Given the description of an element on the screen output the (x, y) to click on. 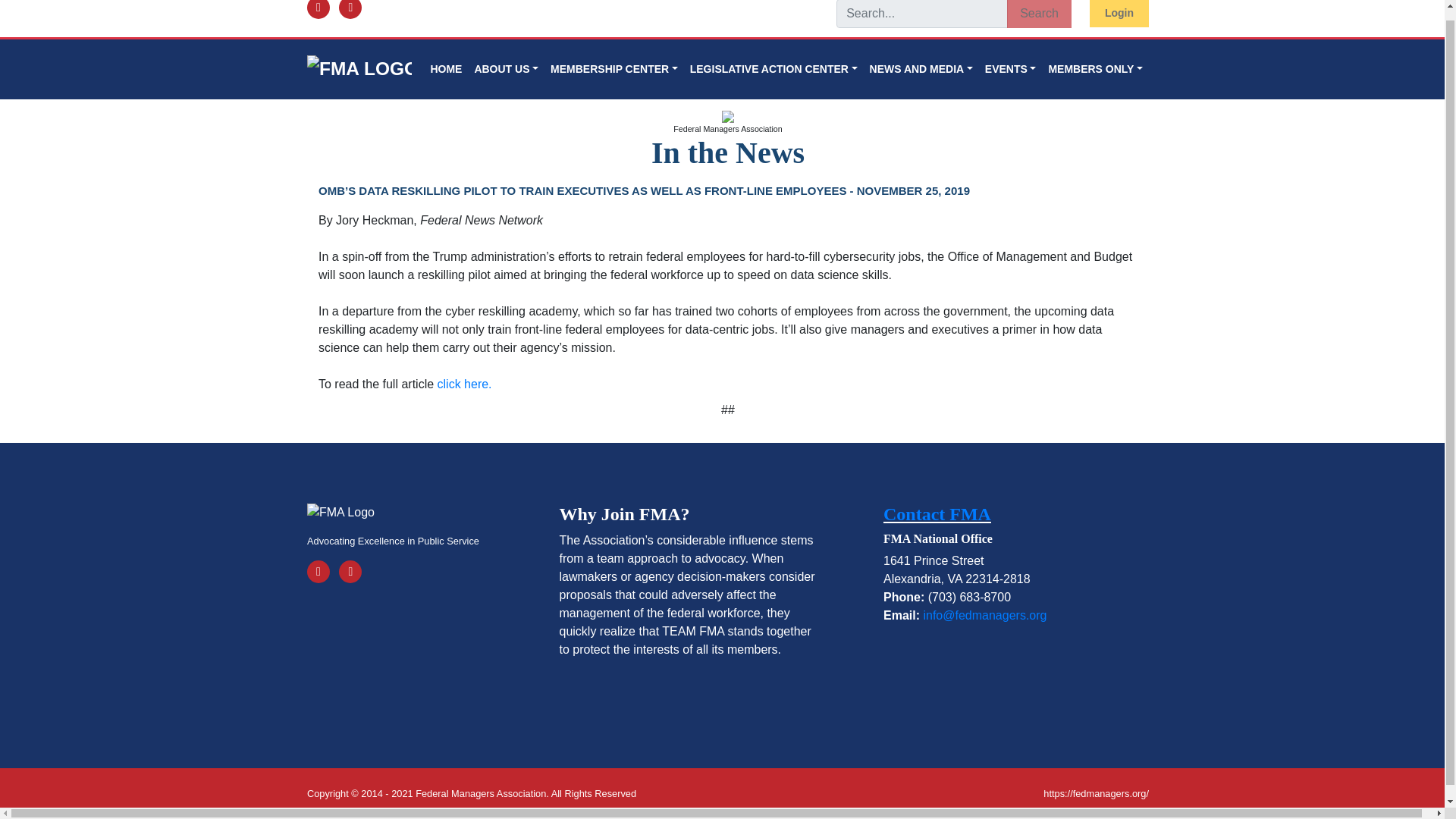
HOME (445, 69)
MEMBERSHIP CENTER (614, 69)
Login (1118, 13)
Search (1039, 13)
ABOUT US (505, 69)
LEGISLATIVE ACTION CENTER (773, 69)
